Given the description of an element on the screen output the (x, y) to click on. 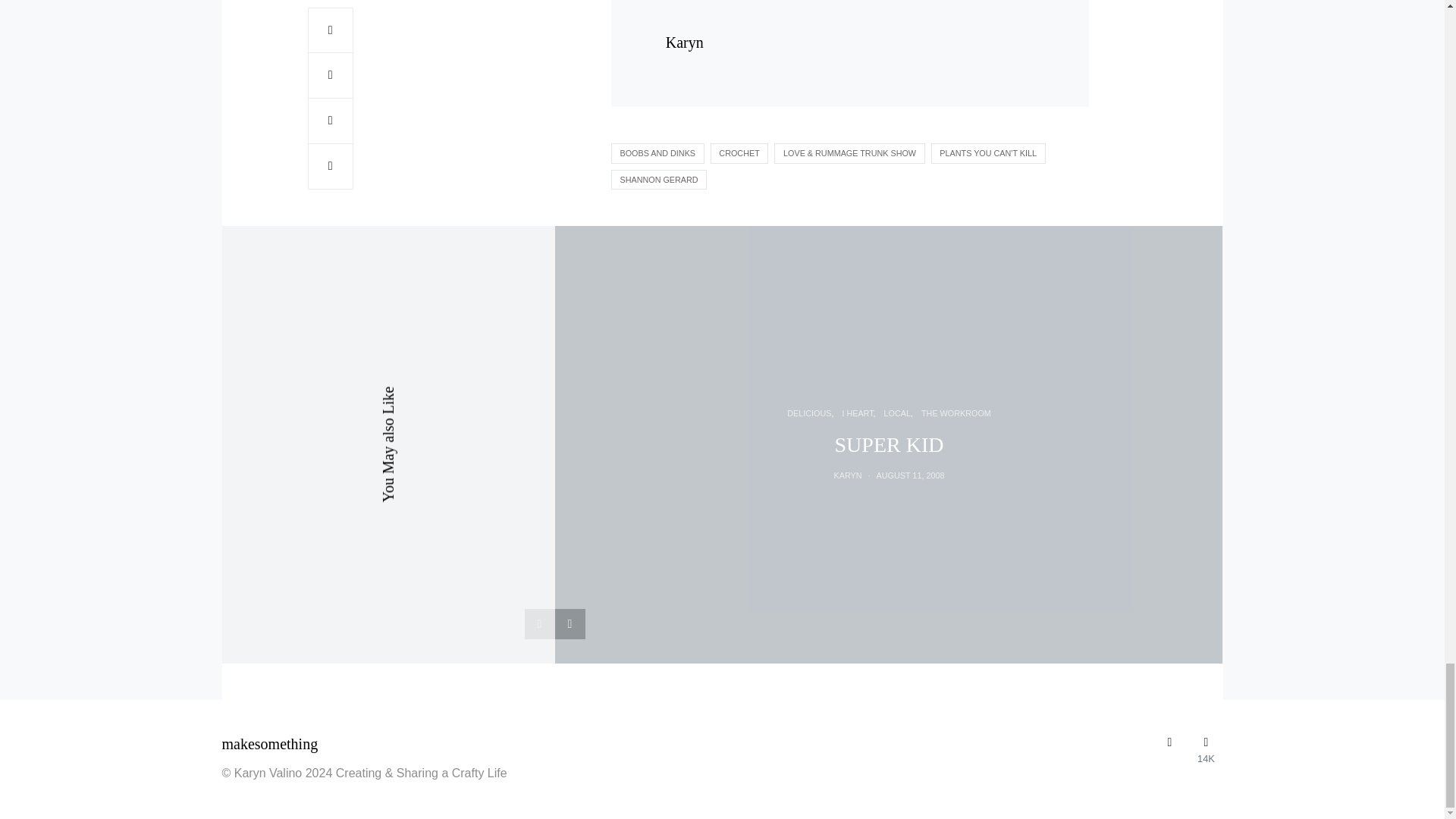
View all posts by Karyn (847, 475)
